Given the description of an element on the screen output the (x, y) to click on. 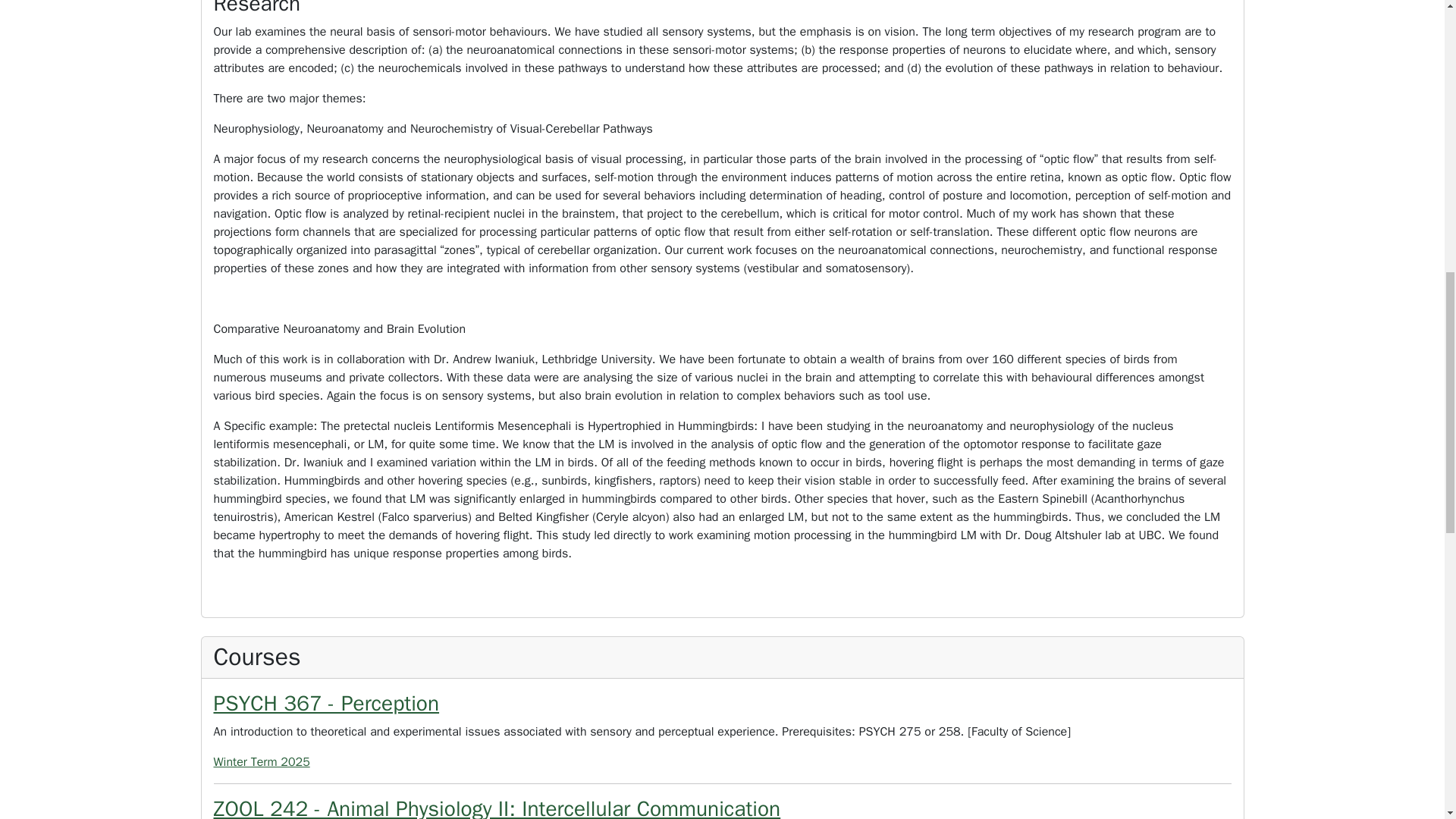
PSYCH 367 - Perception (326, 703)
Winter Term 2025 (722, 761)
ZOOL 242 - Animal Physiology II: Intercellular Communication (497, 807)
